Given the description of an element on the screen output the (x, y) to click on. 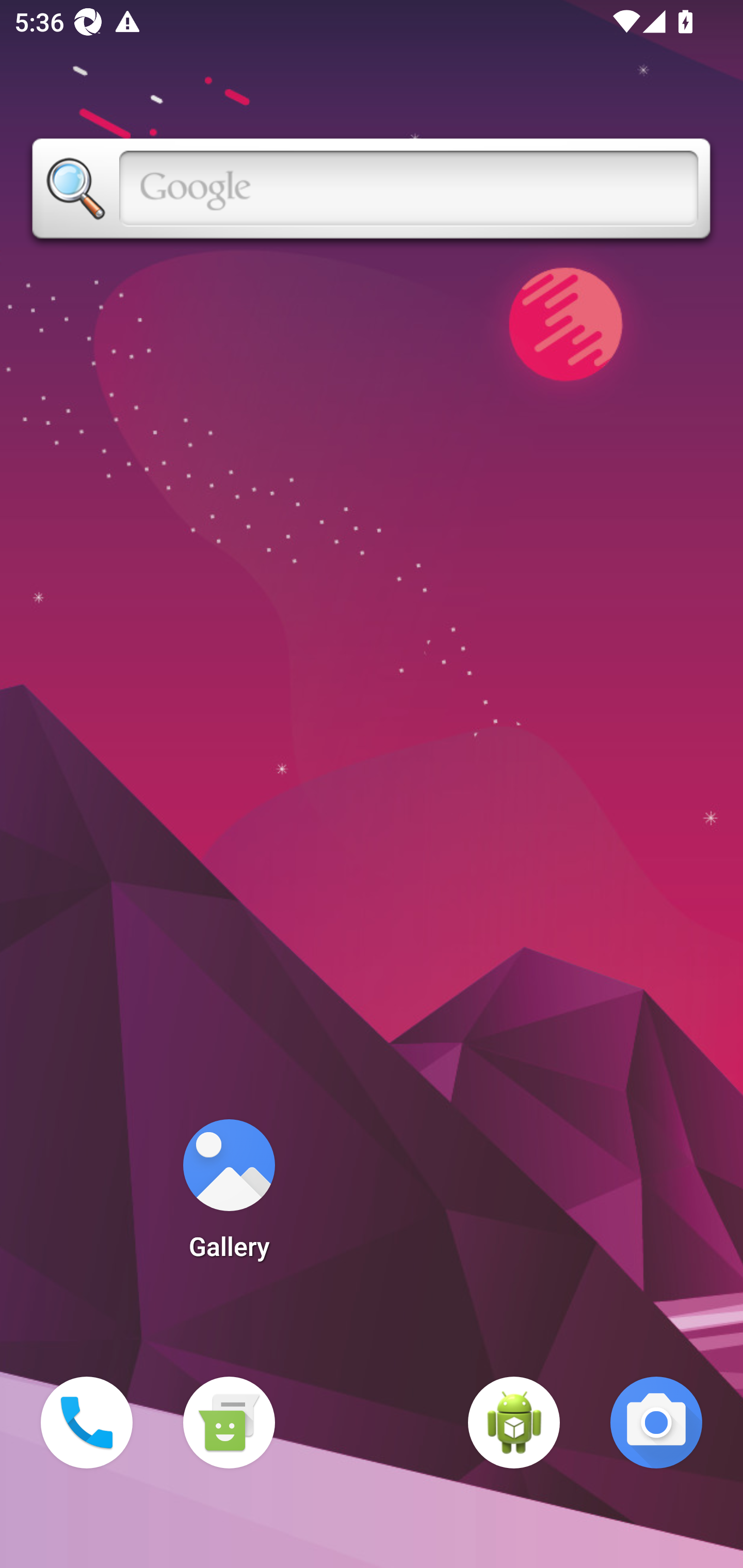
Gallery (228, 1195)
Phone (86, 1422)
Messaging (228, 1422)
WebView Browser Tester (513, 1422)
Camera (656, 1422)
